Given the description of an element on the screen output the (x, y) to click on. 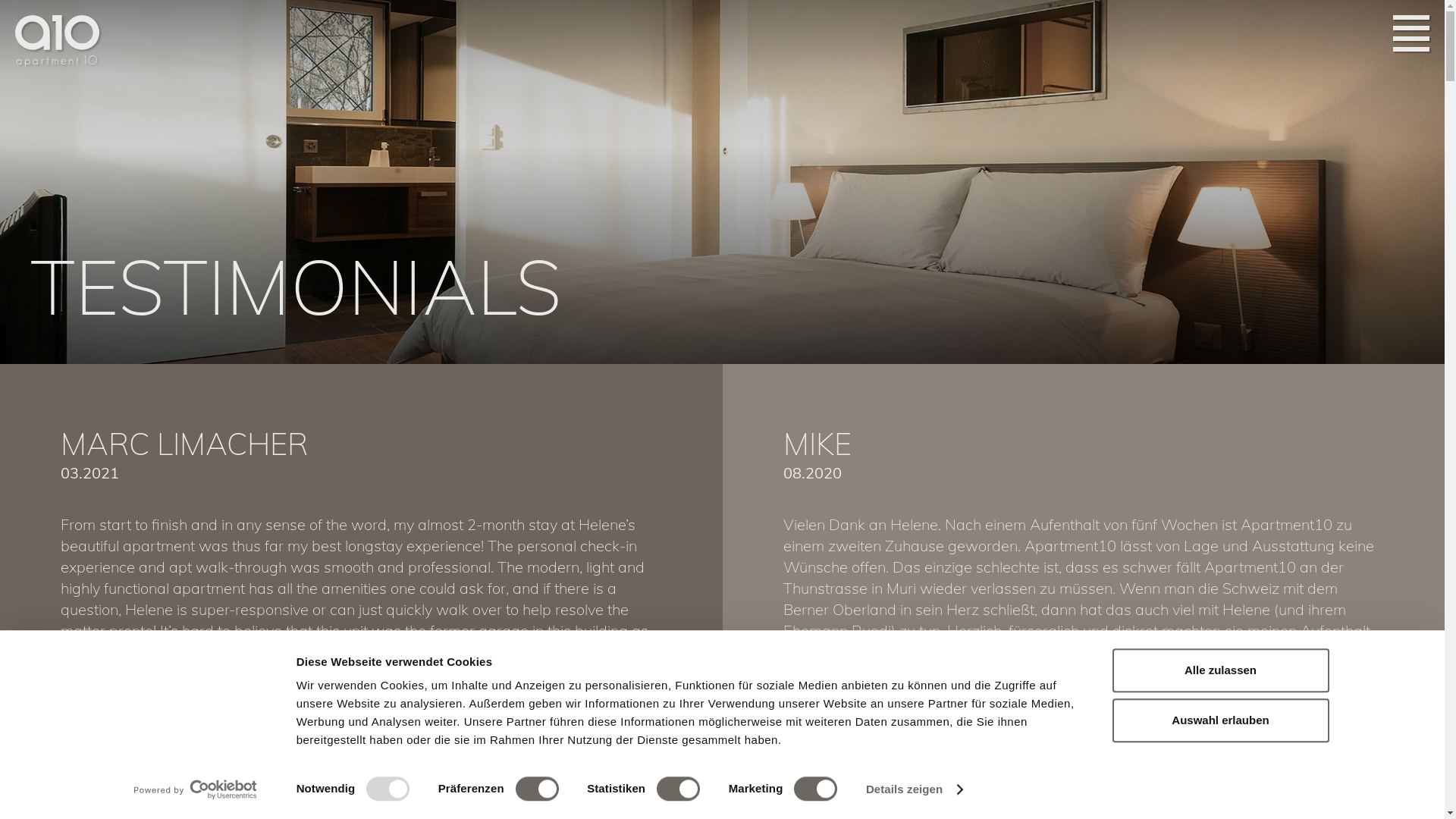
apartment10 Element type: hover (58, 44)
Details zeigen Element type: text (914, 789)
Auswahl erlauben Element type: text (1219, 720)
Alle zulassen Element type: text (1219, 670)
